Given the description of an element on the screen output the (x, y) to click on. 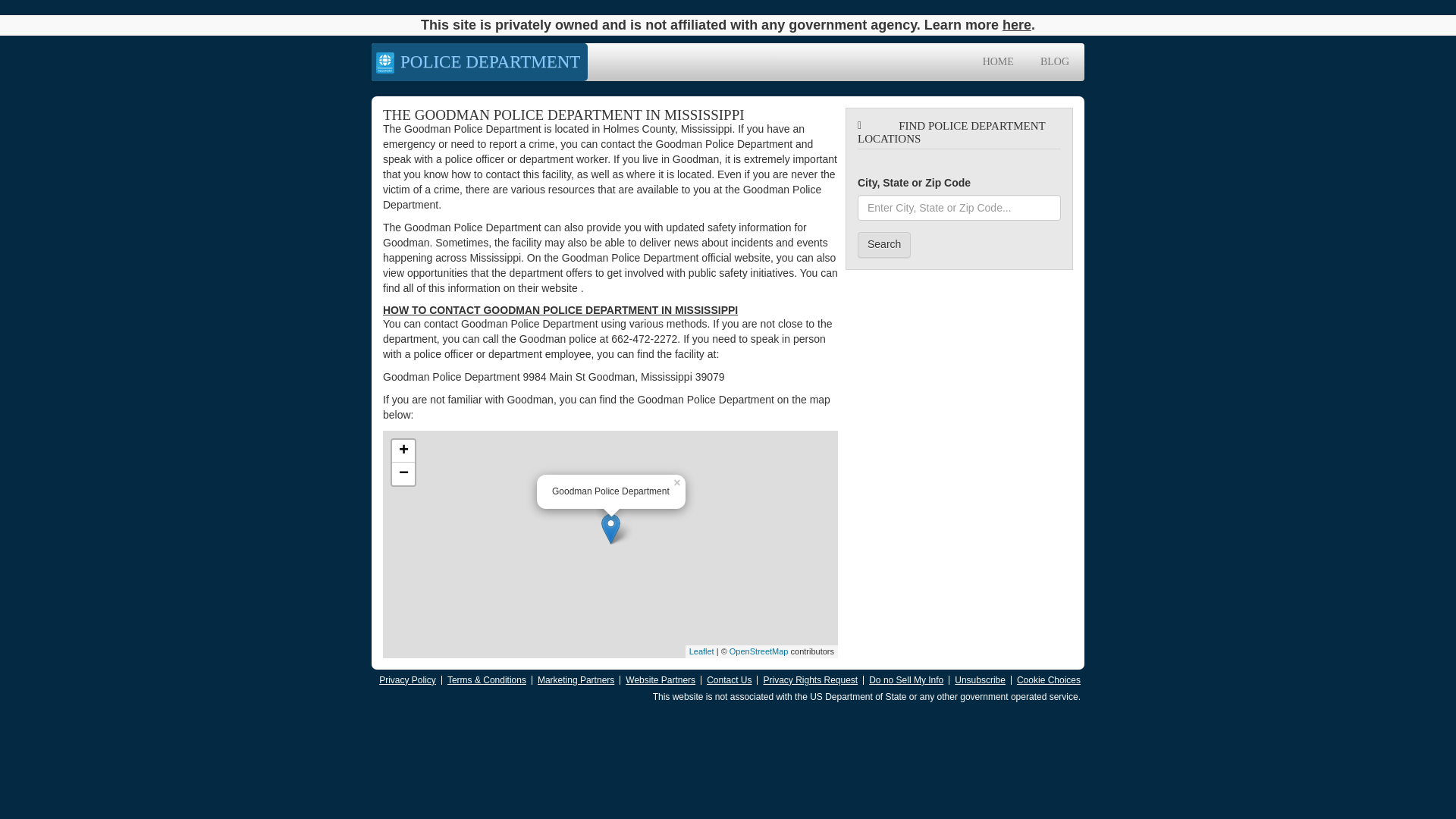
Search (884, 244)
HOME (998, 62)
here (1016, 24)
POLICE DEPARTMENT (479, 62)
OpenStreetMap (759, 651)
Leaflet (701, 651)
A JS library for interactive maps (701, 651)
Website Partners (660, 679)
Privacy Rights Request (809, 679)
Unsubscribe (980, 679)
BLOG (1054, 62)
Privacy Policy (406, 679)
Do no Sell My Info (906, 679)
Marketing Partners (575, 679)
Cookie Choices (1048, 679)
